Given the description of an element on the screen output the (x, y) to click on. 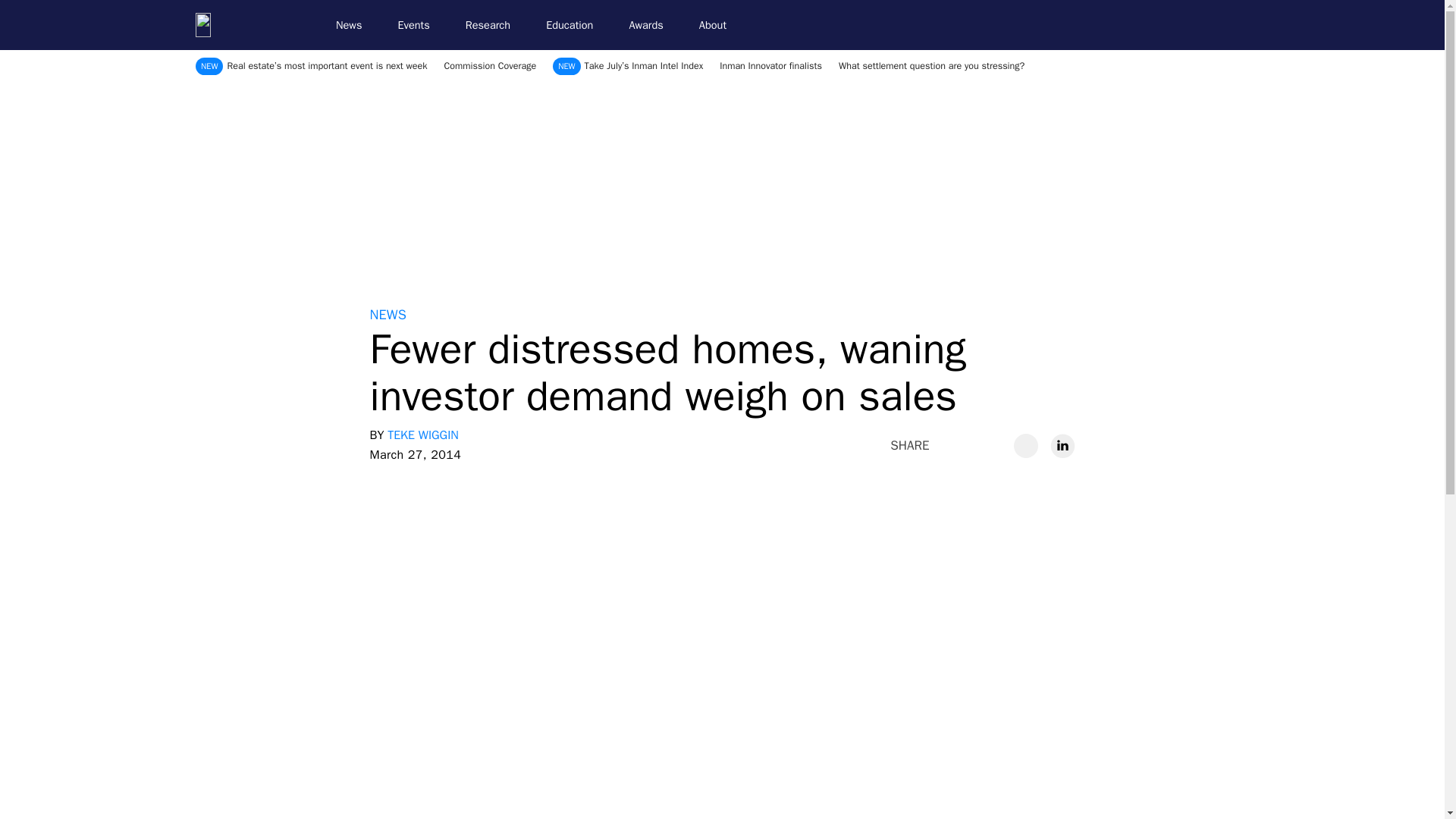
Awards (651, 25)
Events (419, 25)
News (355, 25)
Research (493, 25)
Education (575, 25)
